Given the description of an element on the screen output the (x, y) to click on. 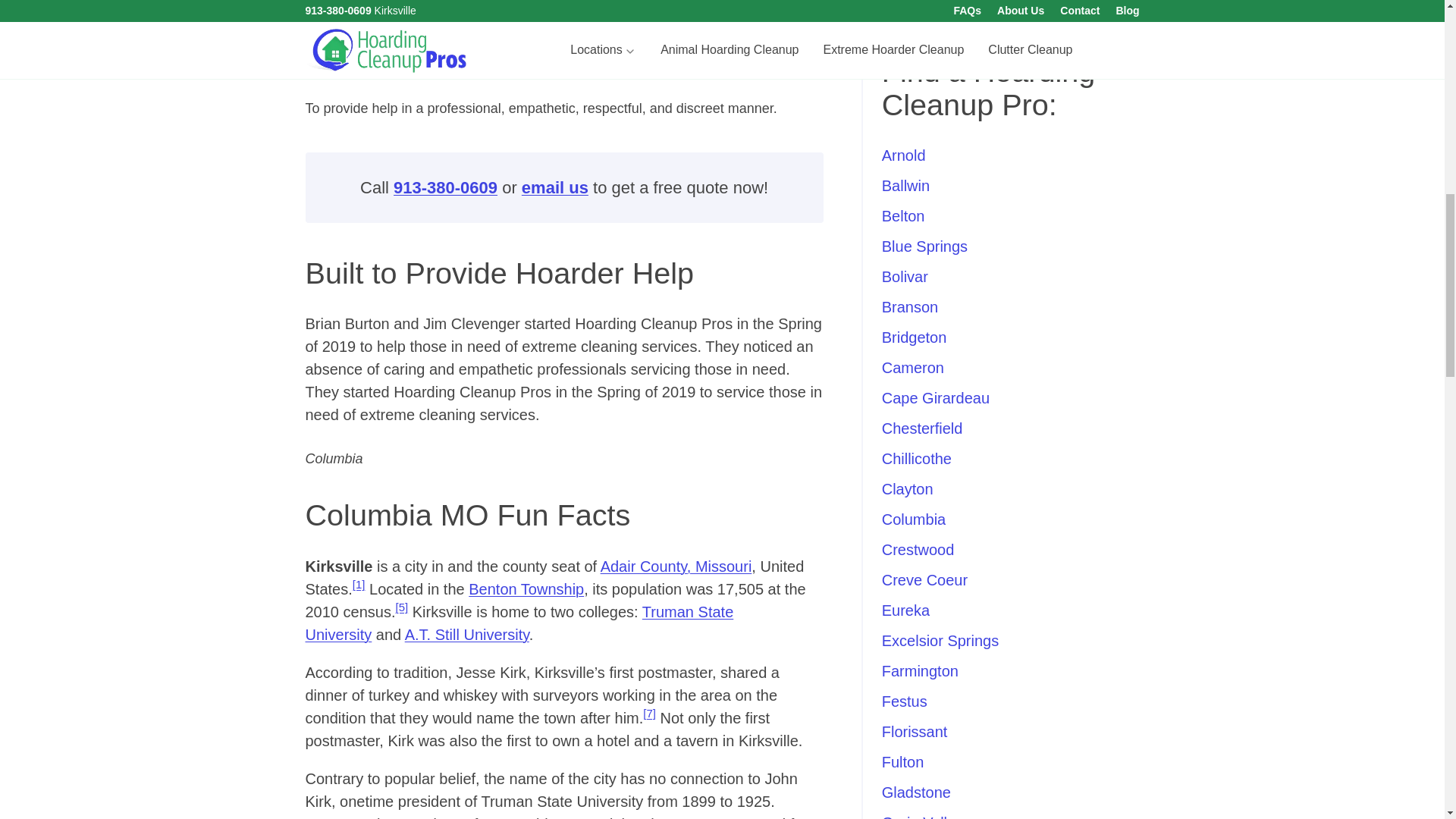
913-380-0609 (445, 187)
email us (554, 187)
Adair County, Missouri (675, 565)
